Given the description of an element on the screen output the (x, y) to click on. 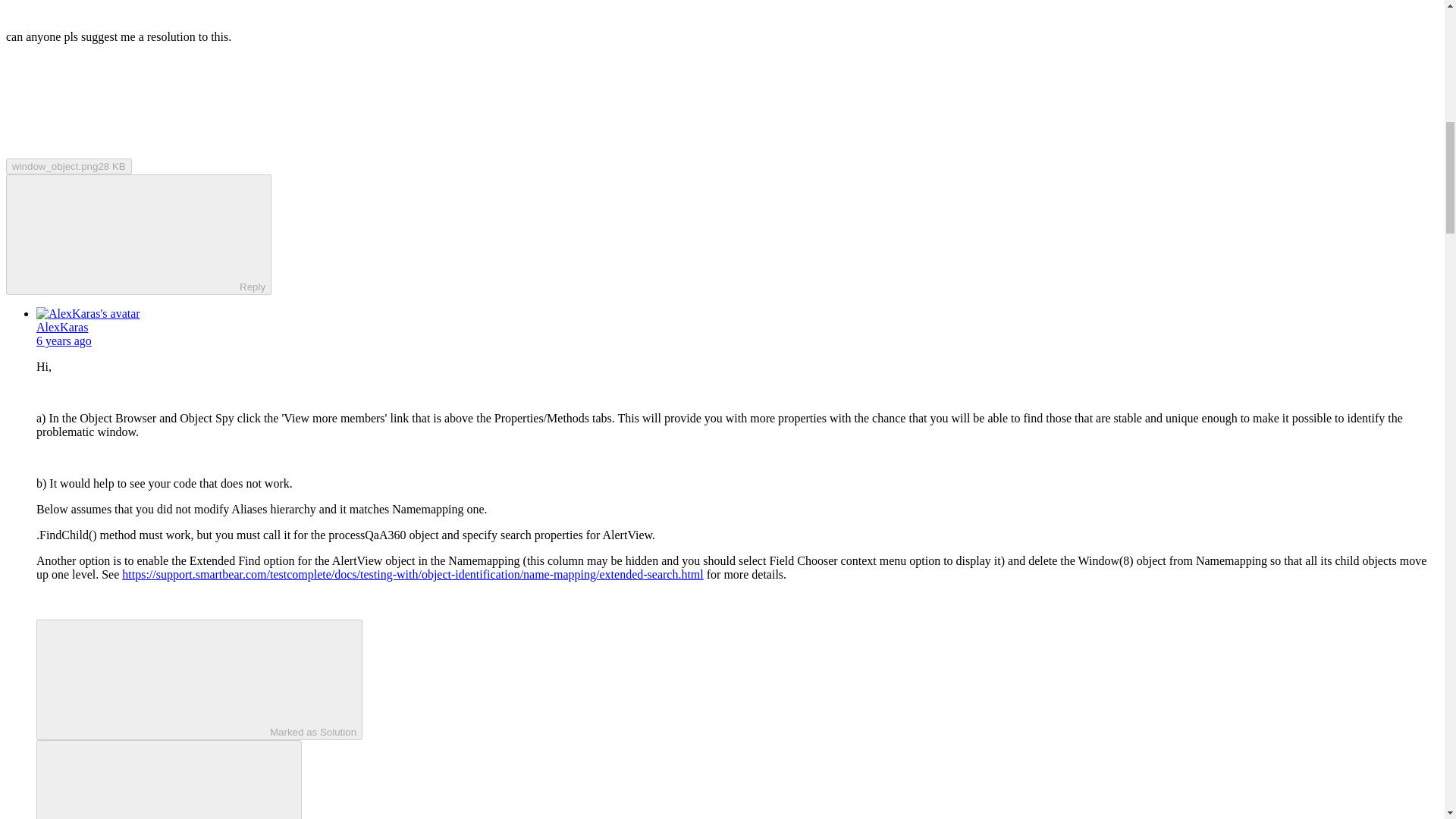
November 9, 2018 at 12:19 PM (63, 340)
ReplyReply (168, 779)
ReplyReply (137, 234)
AlexKaras (61, 327)
Reply (125, 233)
6 years ago (63, 340)
Reply (155, 780)
Marked as Solution (199, 679)
